Given the description of an element on the screen output the (x, y) to click on. 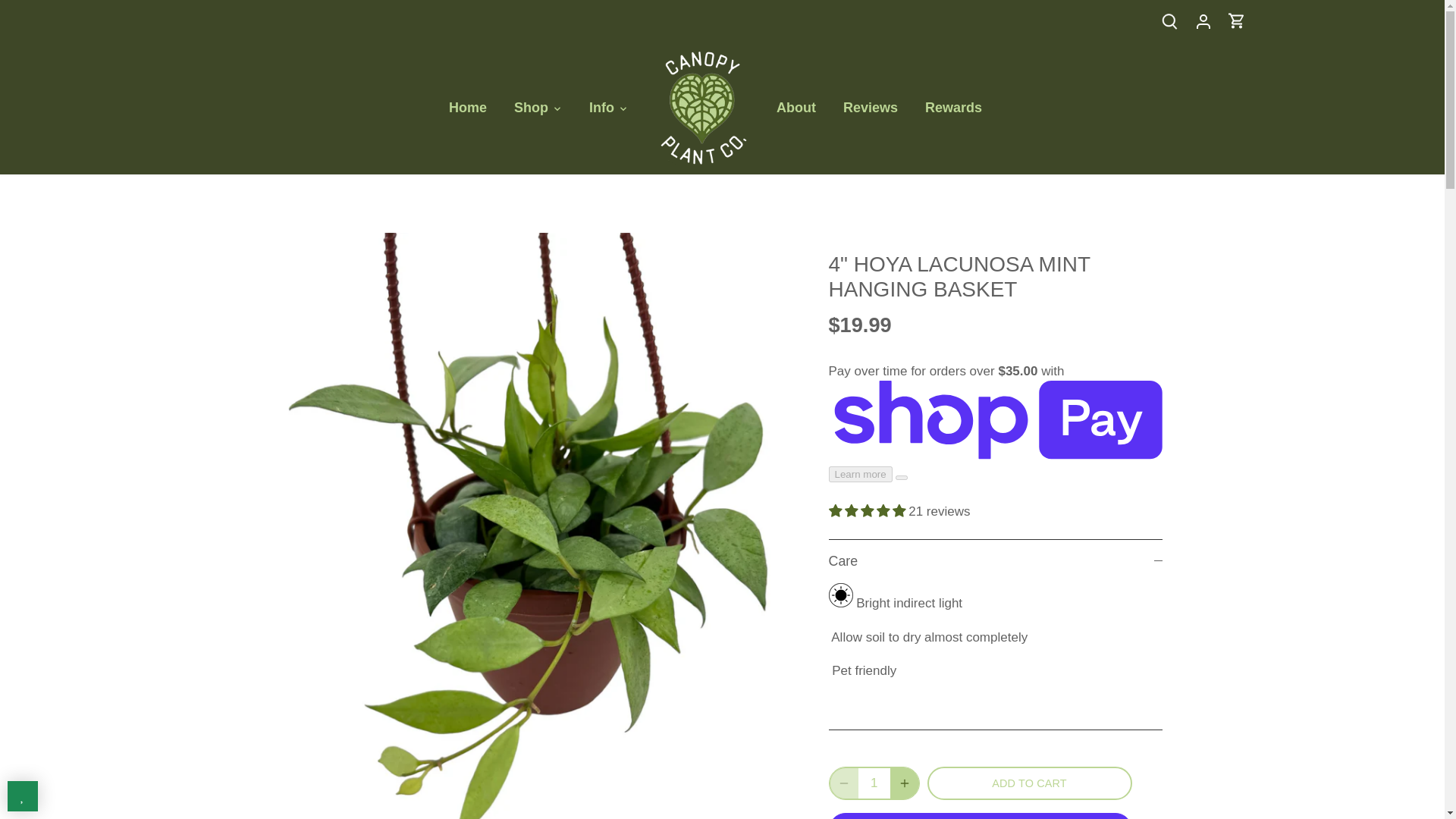
1 (875, 783)
Home (474, 107)
Shop (531, 107)
